Given the description of an element on the screen output the (x, y) to click on. 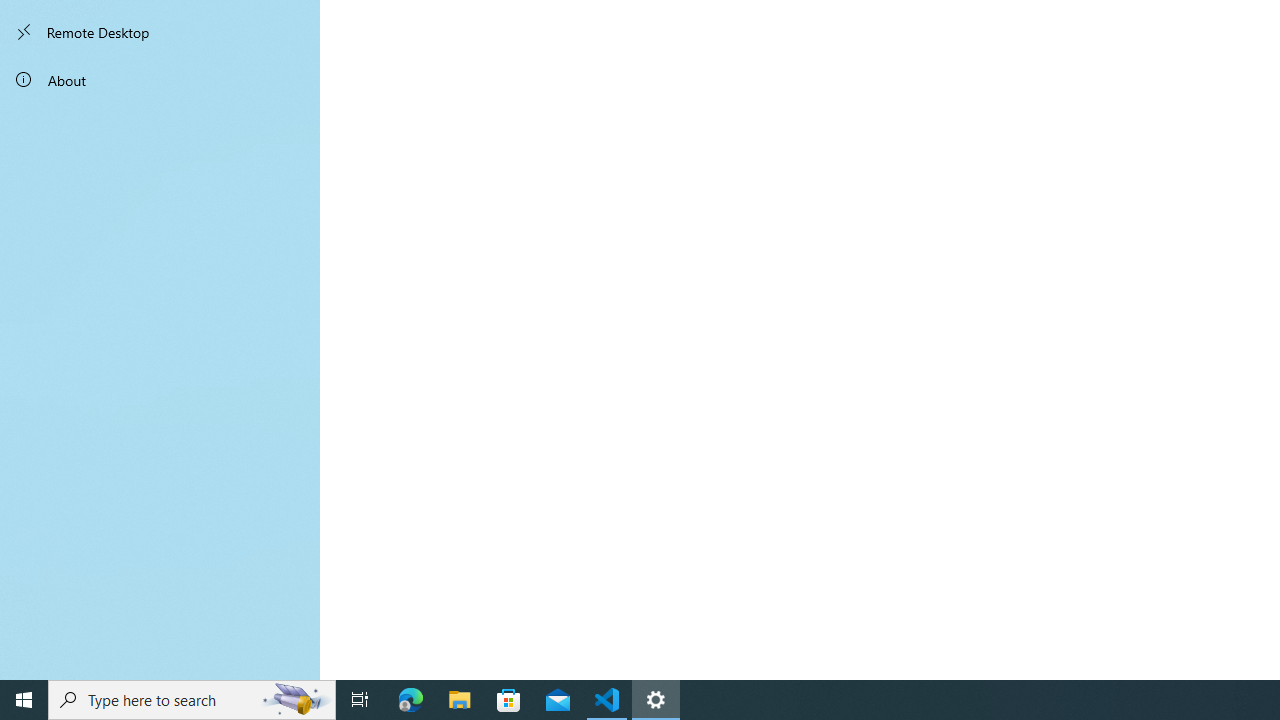
Remote Desktop (160, 31)
About (160, 79)
